Given the description of an element on the screen output the (x, y) to click on. 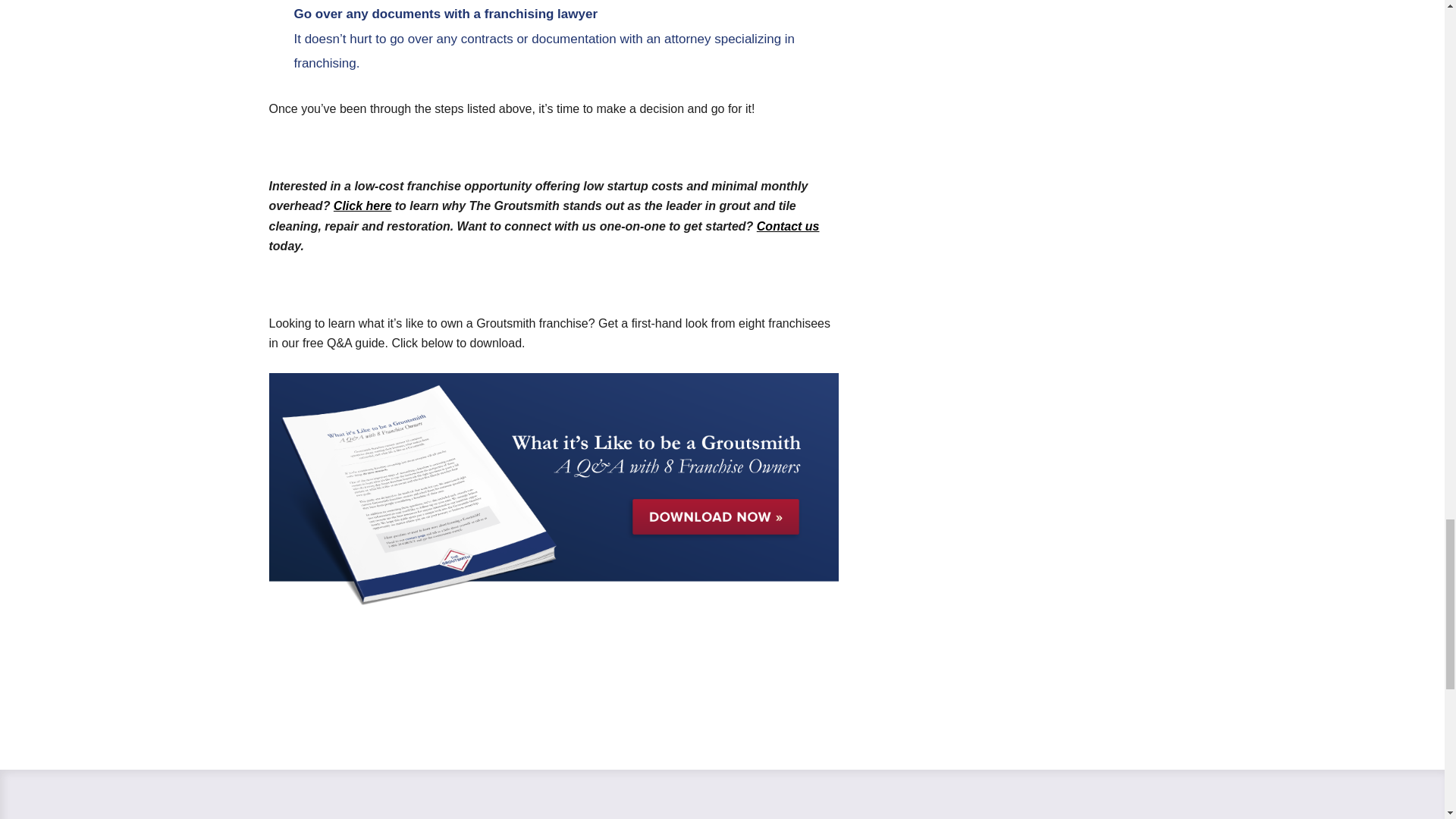
Contact us (788, 226)
Click here (362, 205)
